Given the description of an element on the screen output the (x, y) to click on. 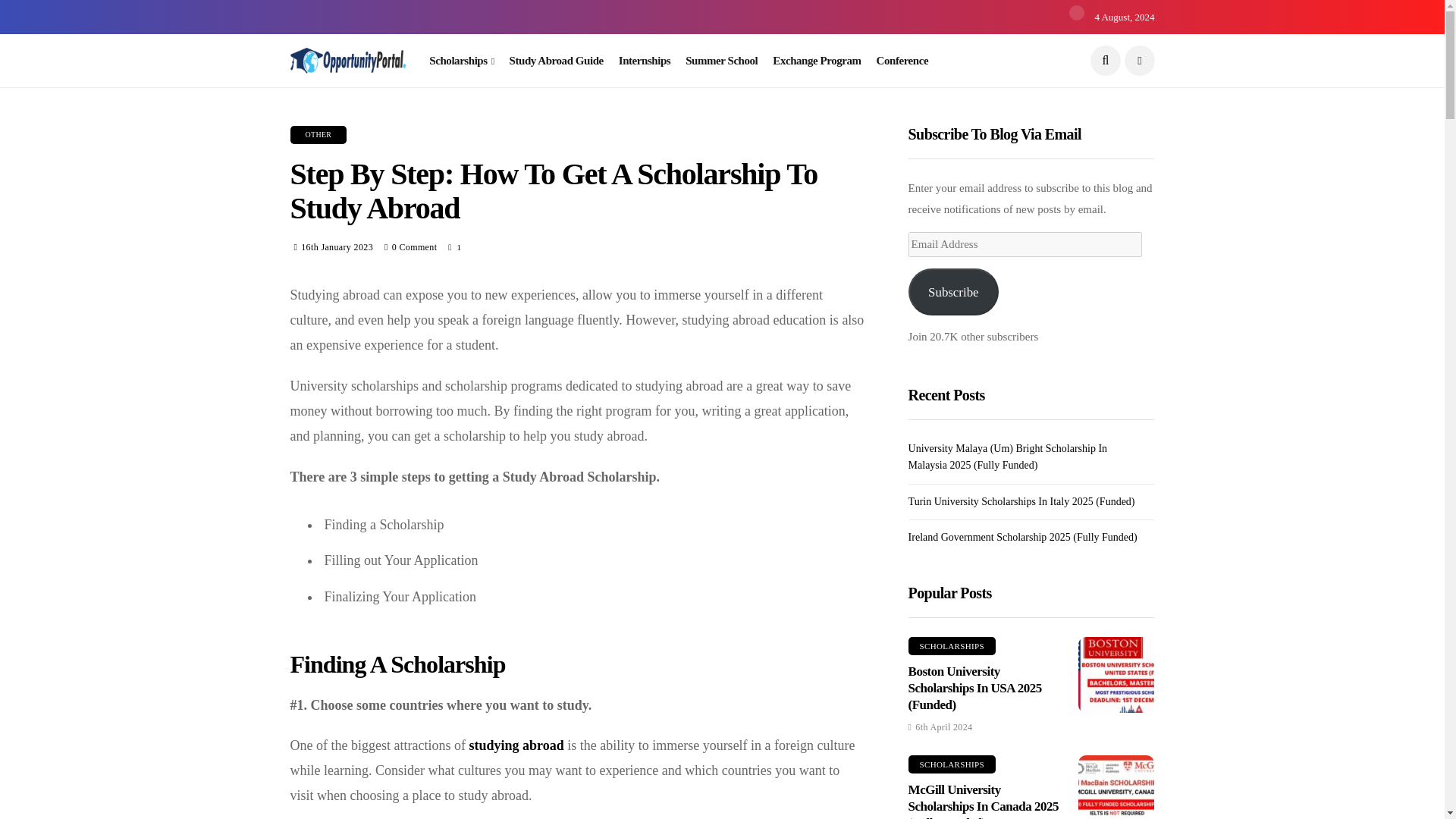
Study Abroad Guide (556, 60)
Exchange Program (816, 60)
1 (455, 246)
Conference (902, 60)
studying abroad (515, 744)
Summer School (721, 60)
Internships (643, 60)
0 Comment (414, 246)
OTHER (317, 135)
Scholarships (461, 60)
Like (455, 246)
